Given the description of an element on the screen output the (x, y) to click on. 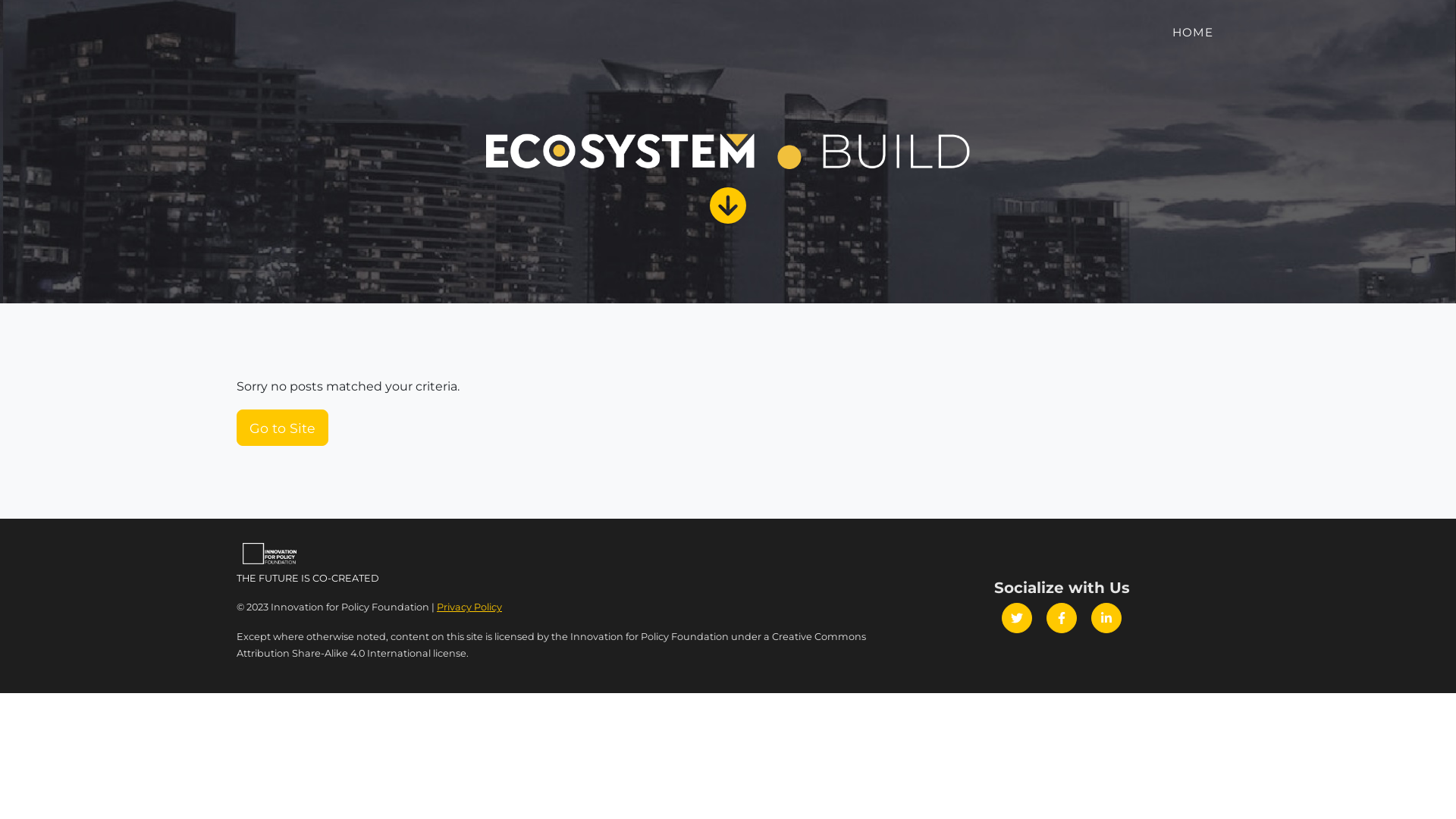
Go to Site Element type: text (282, 427)
HOME Element type: text (1192, 32)
Privacy Policy Element type: text (469, 606)
